Given the description of an element on the screen output the (x, y) to click on. 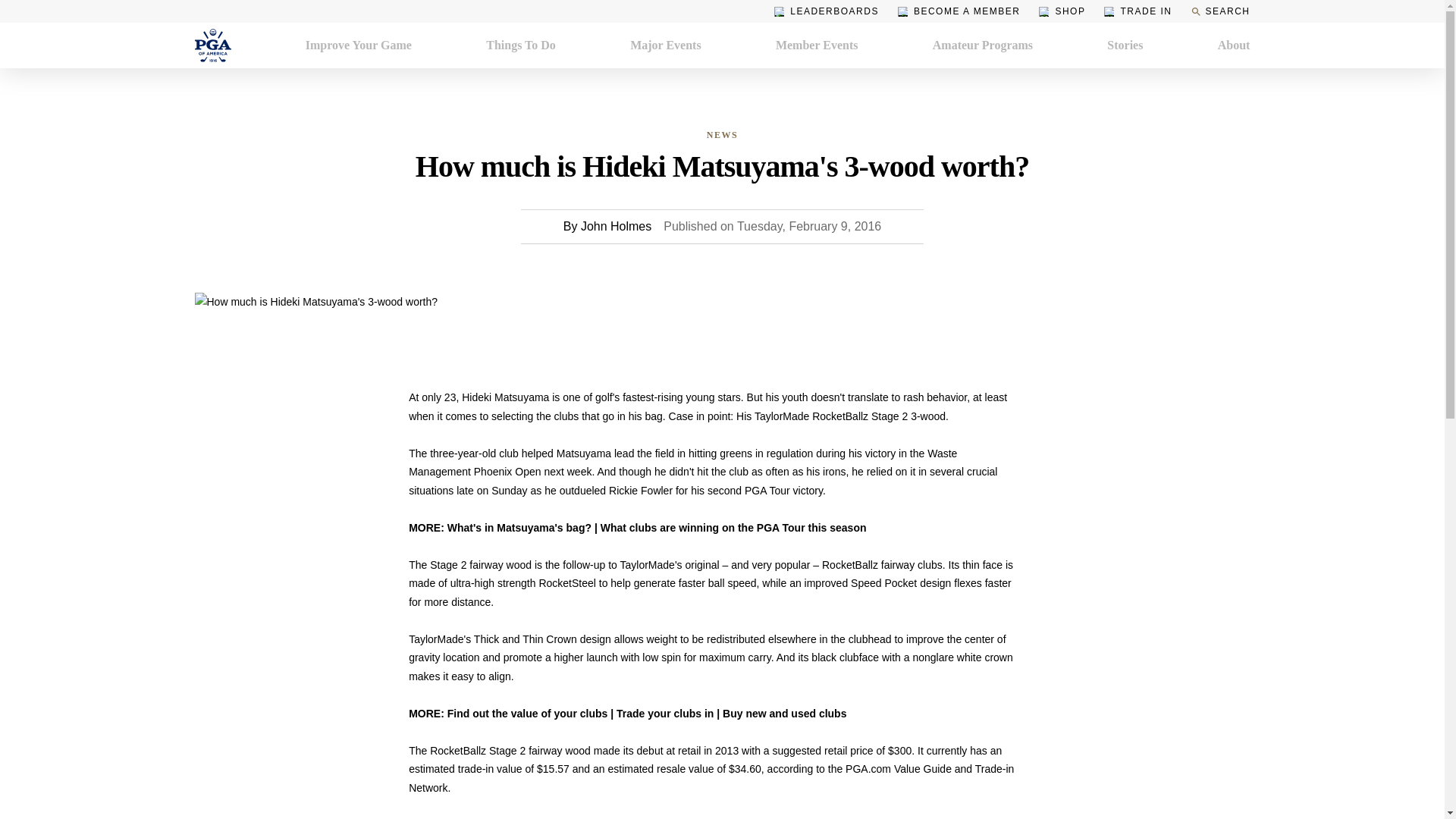
Major Events (665, 44)
LEADERBOARDS (826, 10)
BECOME A MEMBER (959, 10)
Amateur Programs (982, 44)
Improve Your Game (358, 44)
SEARCH (1220, 11)
Things To Do (521, 44)
Member Events (817, 44)
TRADE IN (1137, 10)
SHOP (1061, 10)
